Given the description of an element on the screen output the (x, y) to click on. 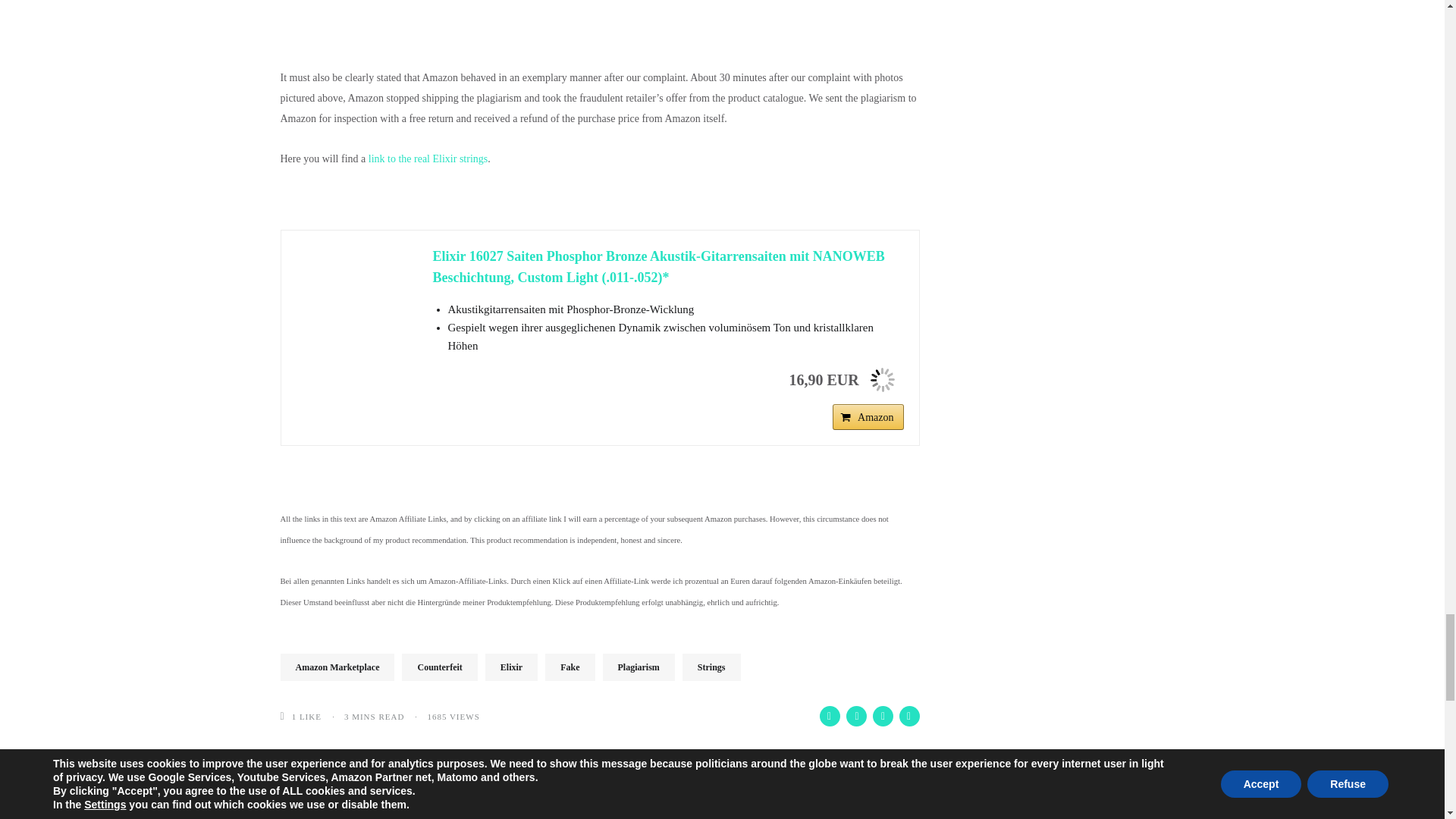
Share to Pinterest (882, 715)
Share to Facebook (829, 715)
Amazon Prime (881, 378)
I like this (286, 715)
Amazon (867, 416)
Share with Whatsapp (909, 715)
Share to Twitter (855, 715)
